Given the description of an element on the screen output the (x, y) to click on. 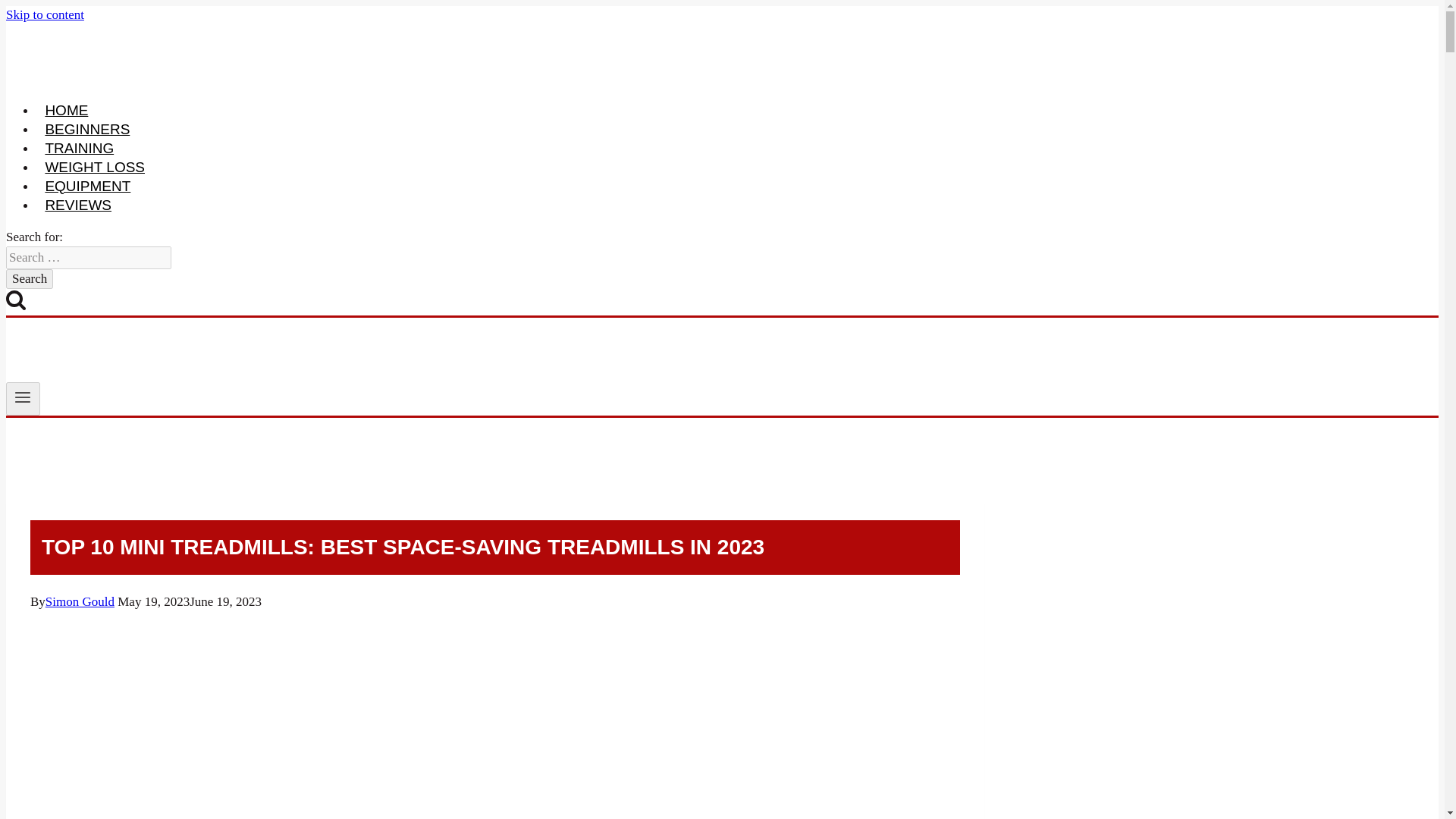
TRAINING (79, 148)
Search (28, 279)
Search (15, 299)
Search (28, 279)
WEIGHT LOSS (94, 167)
EQUIPMENT (87, 186)
Toggle Menu (22, 397)
Toggle Menu (22, 398)
Search (28, 279)
Skip to content (44, 14)
Skip to content (44, 14)
HOME (66, 110)
REVIEWS (77, 205)
BEGINNERS (87, 129)
Simon Gould (80, 601)
